Given the description of an element on the screen output the (x, y) to click on. 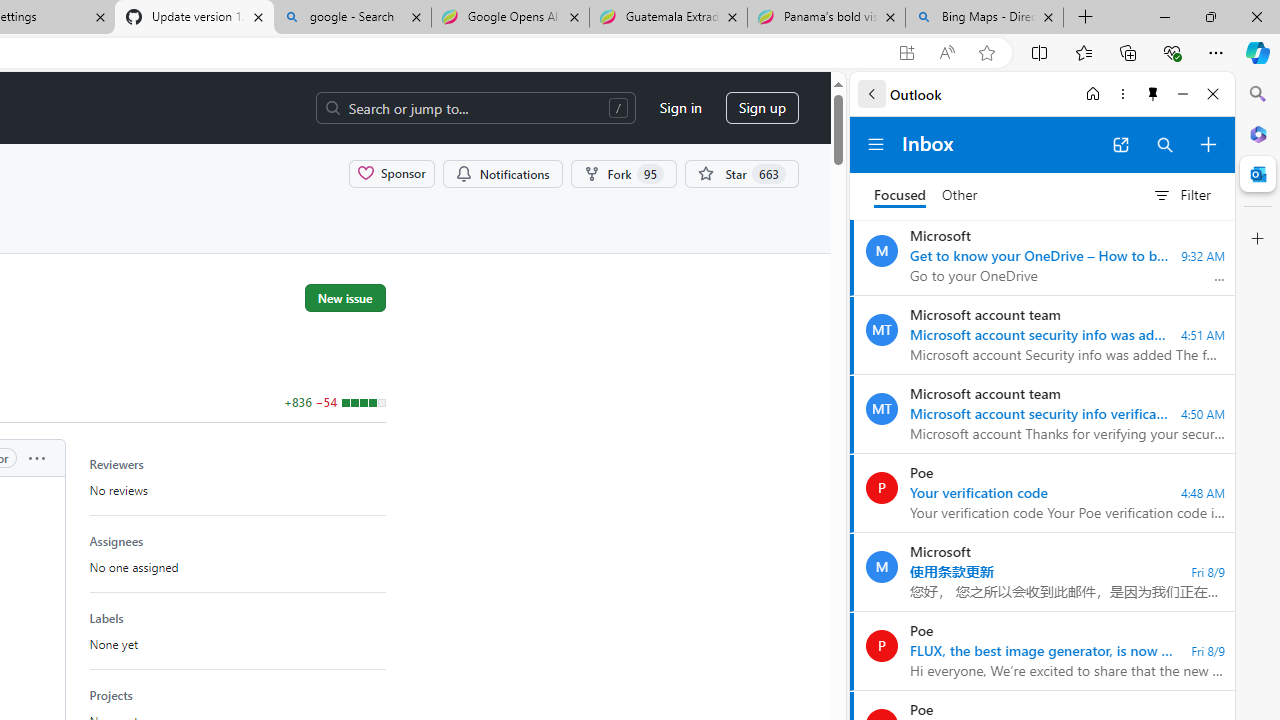
Sponsor MajkiIT/polish-ads-filter (391, 173)
Compose new mail (1208, 144)
Sign up (761, 107)
 Star 663 (741, 173)
Google Opens AI Academy for Startups - Nearshore Americas (509, 17)
Sponsor (391, 173)
